Given the description of an element on the screen output the (x, y) to click on. 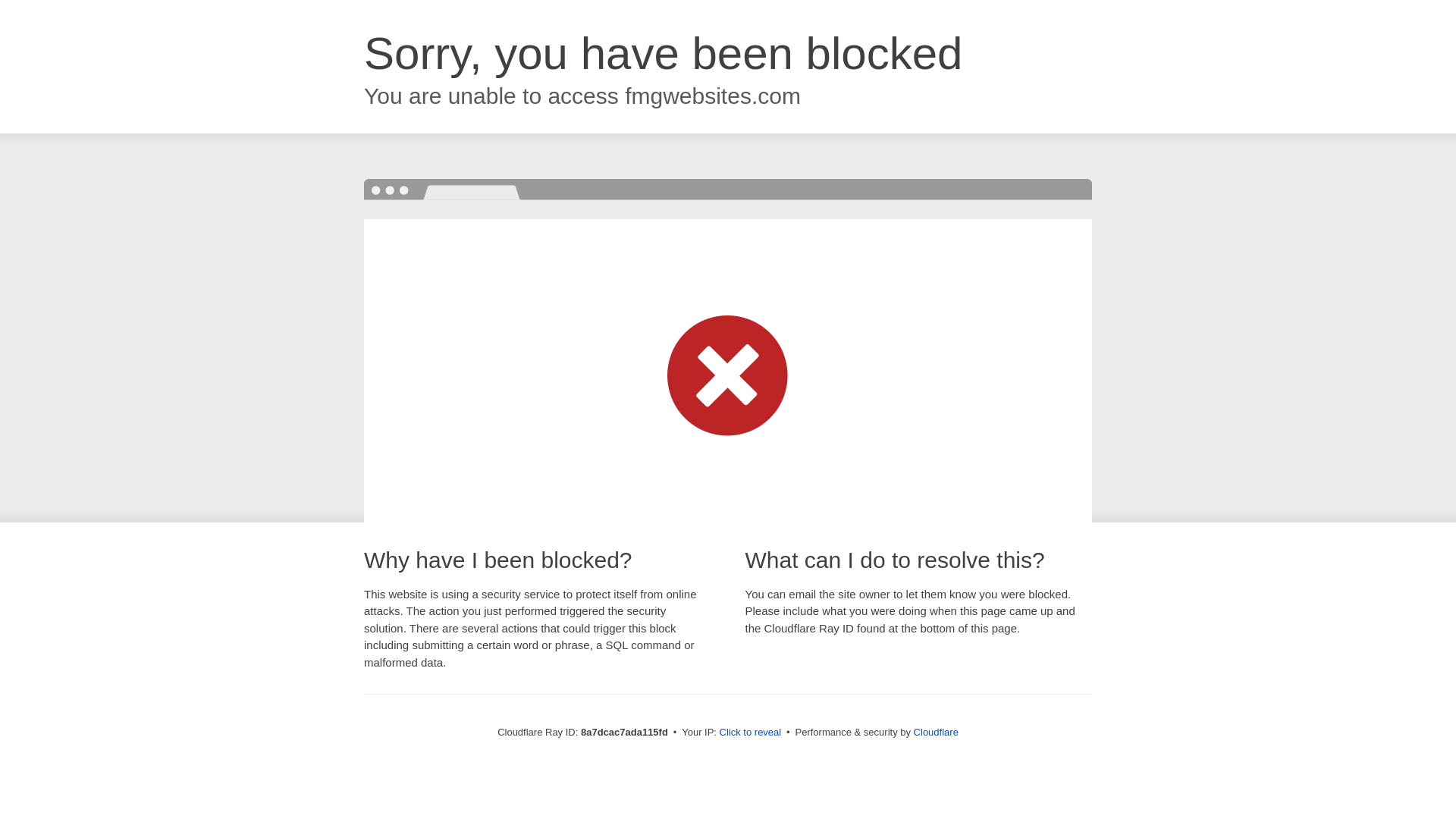
Cloudflare (936, 731)
Click to reveal (750, 732)
